Given the description of an element on the screen output the (x, y) to click on. 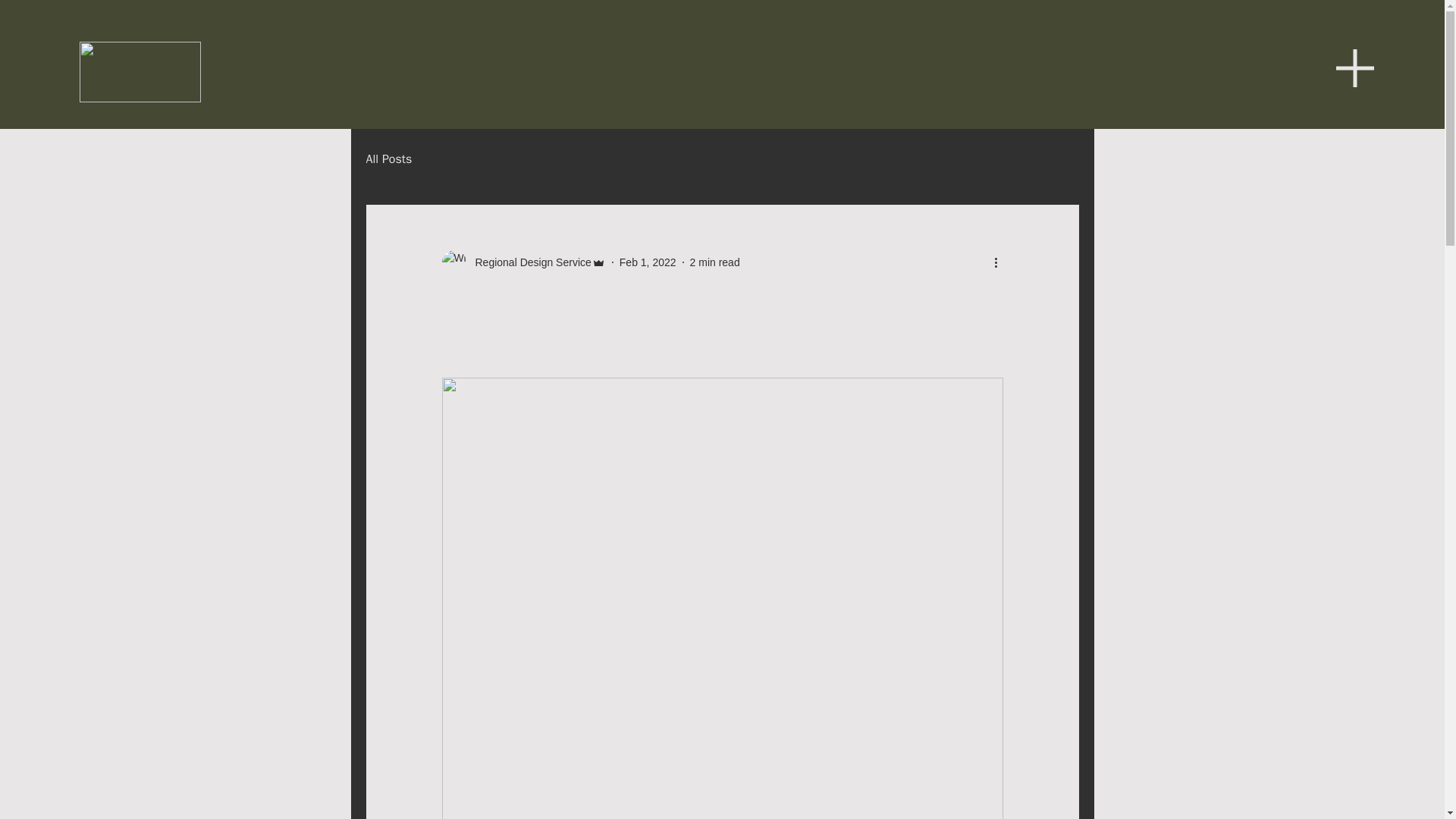
Feb 1, 2022 (648, 262)
2 min read (714, 262)
All Posts (388, 159)
Regional Design Service (528, 262)
